Given the description of an element on the screen output the (x, y) to click on. 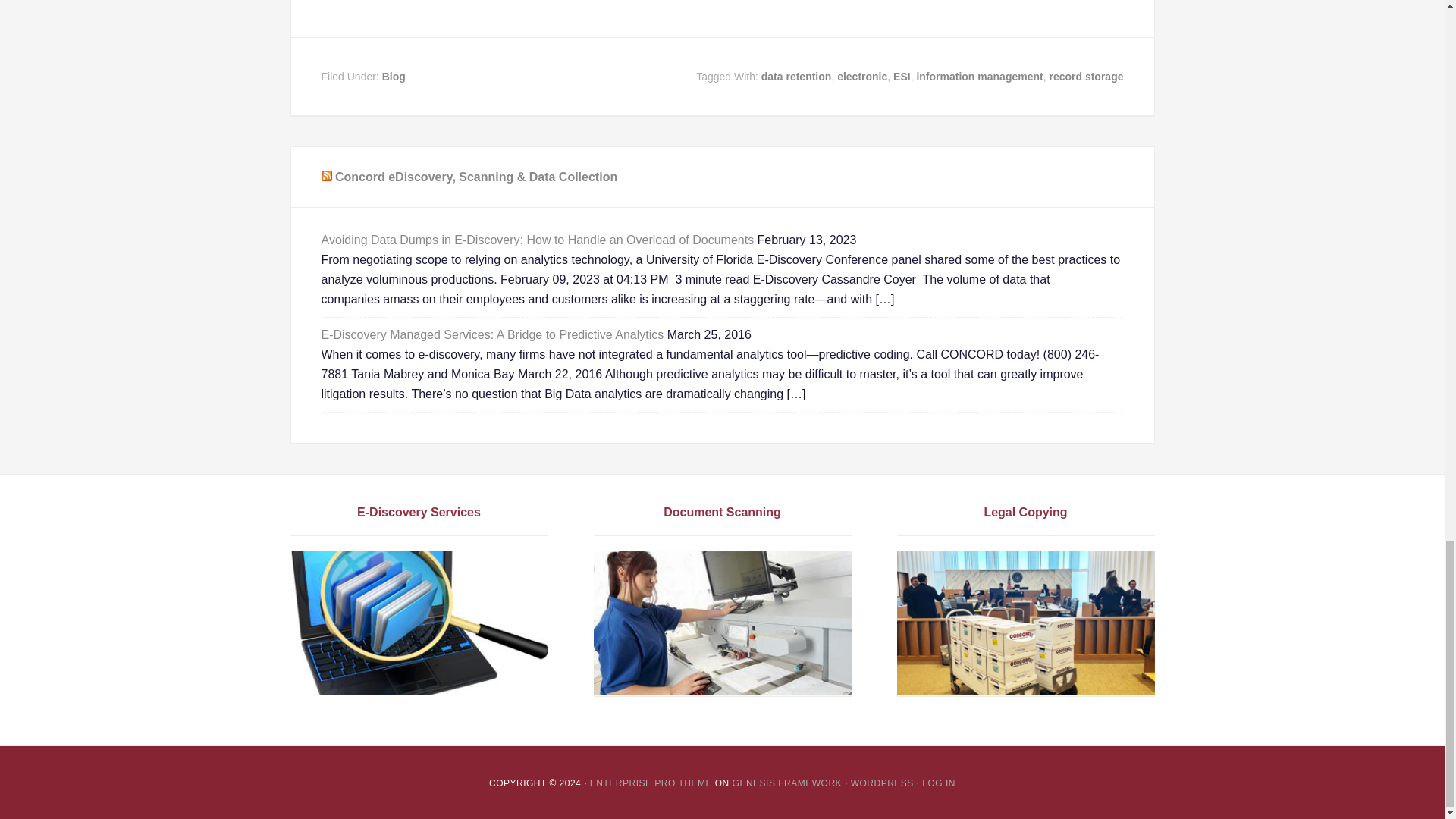
information management (978, 76)
data retention (796, 76)
record storage (1085, 76)
electronic (861, 76)
ESI (902, 76)
Blog (393, 76)
